Given the description of an element on the screen output the (x, y) to click on. 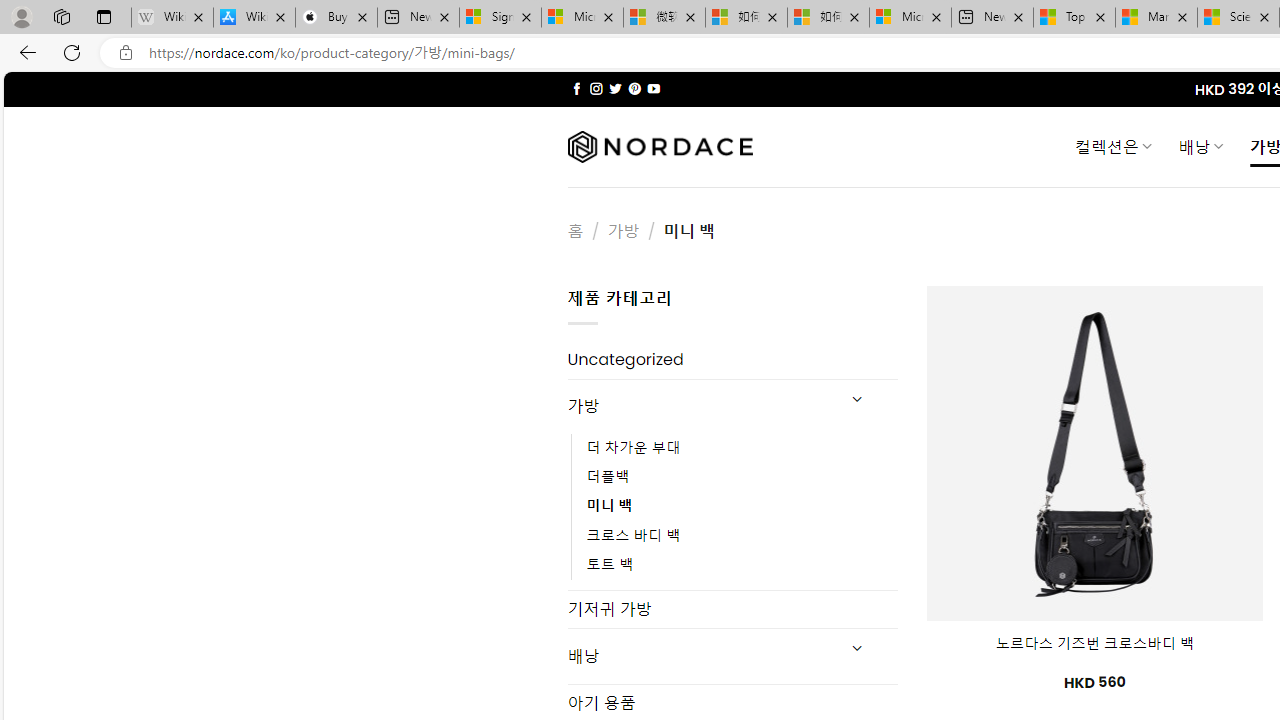
Nordace (659, 147)
Buy iPad - Apple (336, 17)
Follow on YouTube (653, 88)
Follow on Pinterest (634, 88)
Follow on Twitter (615, 88)
